Given the description of an element on the screen output the (x, y) to click on. 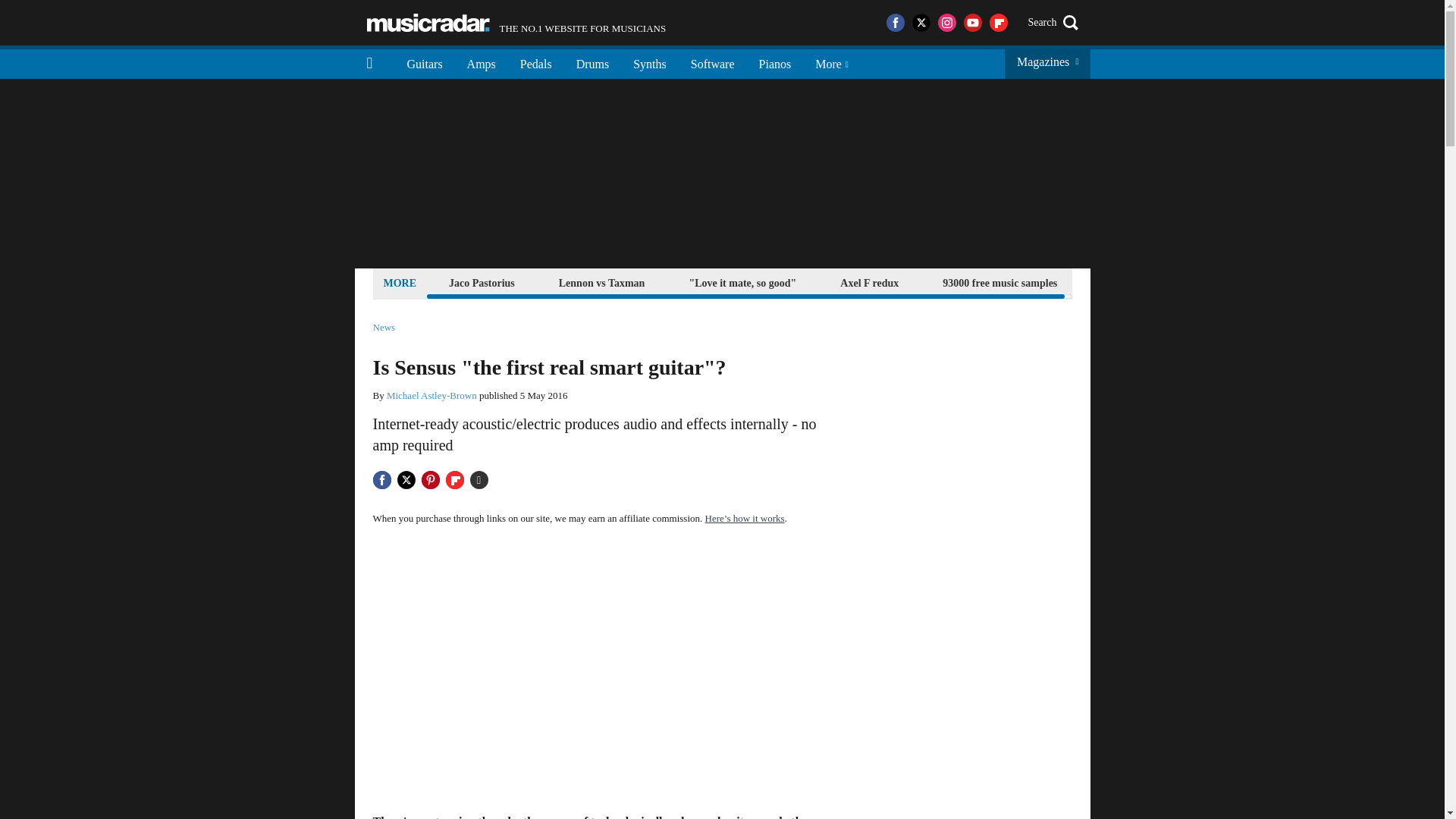
Music Radar (427, 22)
"Love it mate, so good" (516, 22)
Pedals (742, 282)
Software (536, 61)
News (712, 61)
Jaco Pastorius (384, 327)
Axel F redux (481, 282)
Drums (869, 282)
Pianos (592, 61)
Synths (774, 61)
93000 free music samples (649, 61)
Amps (999, 282)
Guitars (481, 61)
Lennon vs Taxman (424, 61)
